Given the description of an element on the screen output the (x, y) to click on. 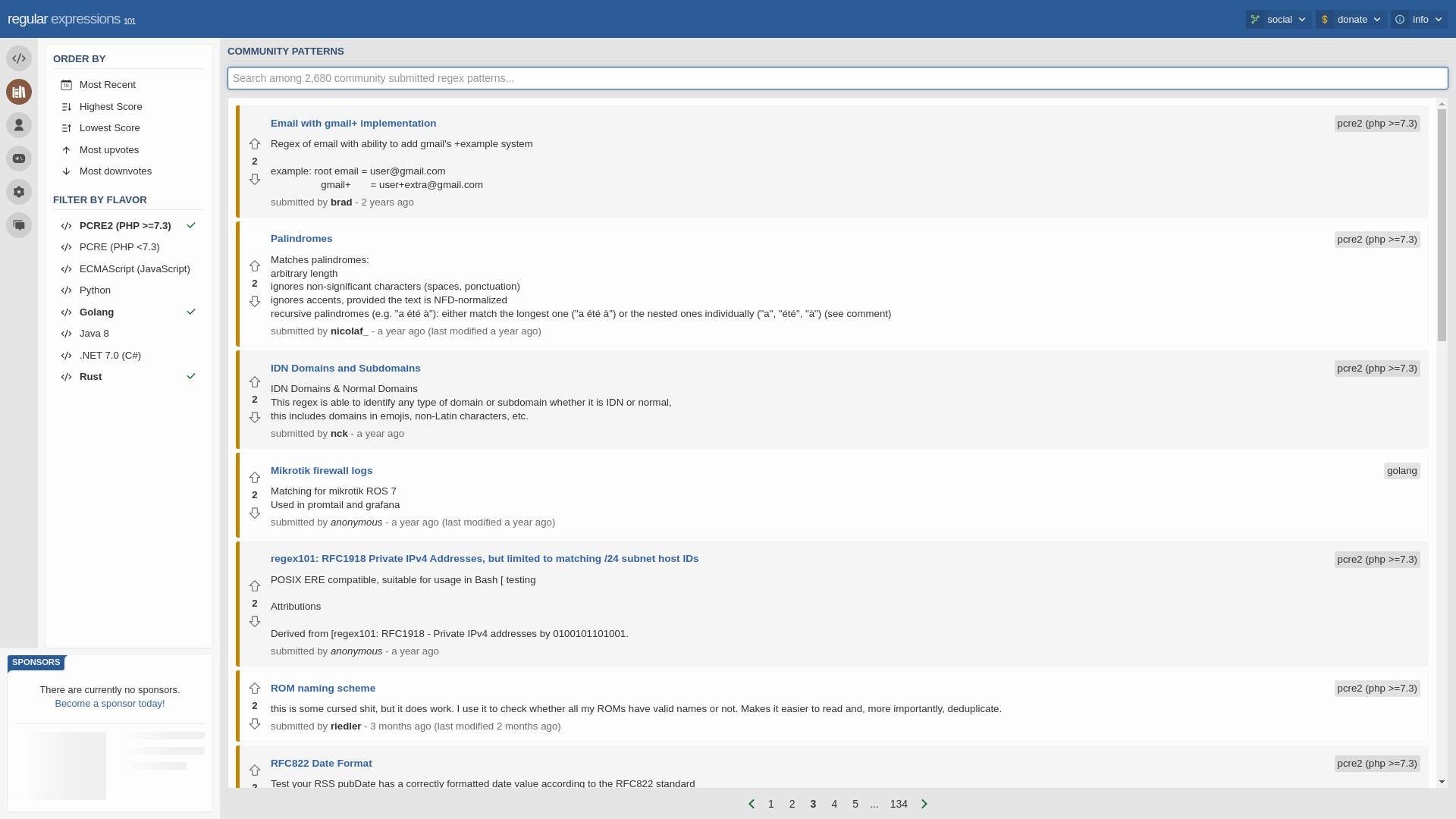
Highest Score (128, 106)
Most downvotes (128, 171)
Rust (128, 377)
social (1277, 18)
Community Patterns (18, 91)
info (1419, 18)
Golang (128, 312)
Become a sponsor today! (109, 703)
Python (128, 291)
Account (18, 125)
Most Recent (128, 85)
donate (1351, 18)
Regex Editor (18, 58)
regular expressions 101 (71, 18)
Most upvotes (128, 150)
